Given the description of an element on the screen output the (x, y) to click on. 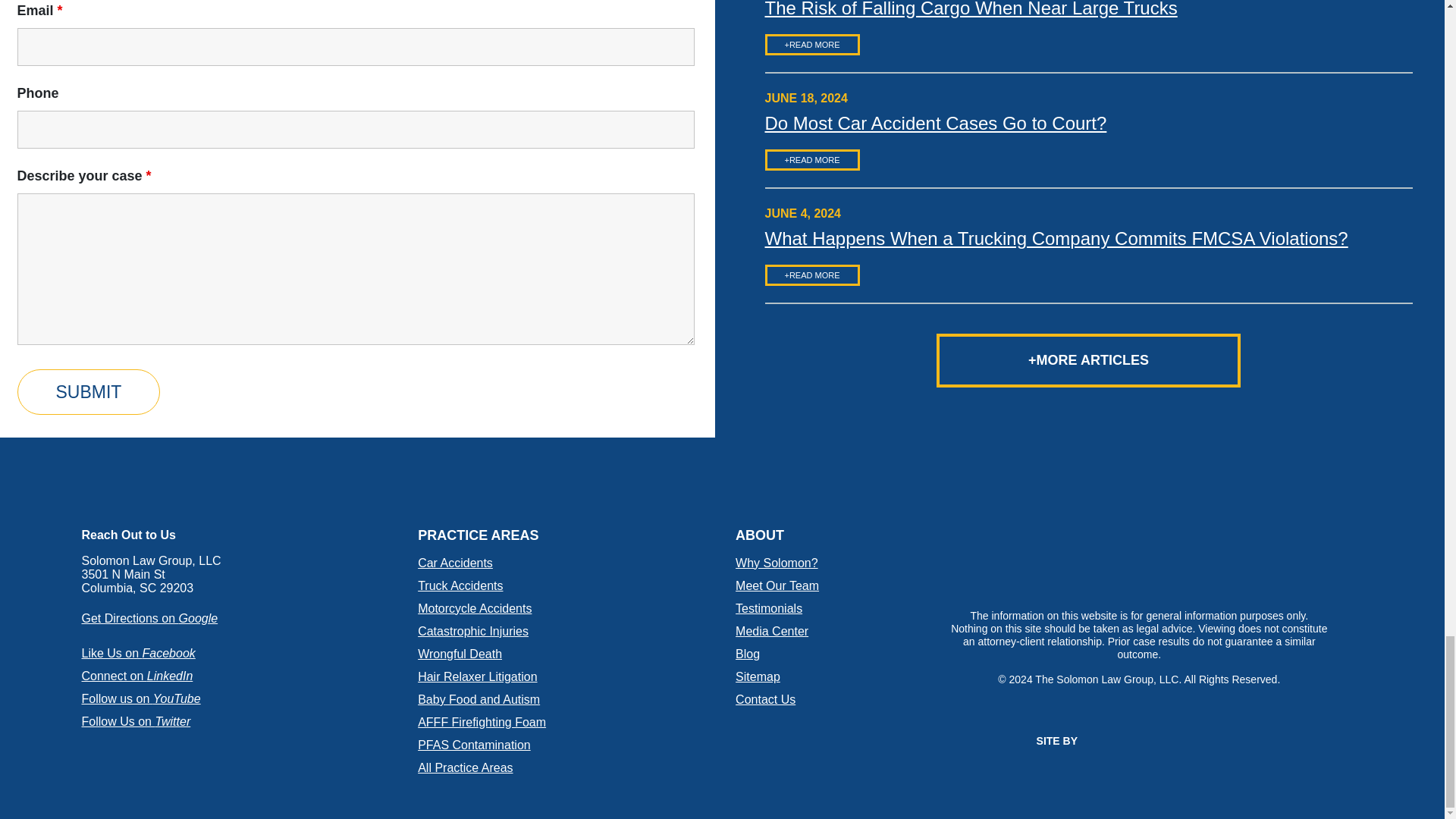
Submit (88, 391)
